Given the description of an element on the screen output the (x, y) to click on. 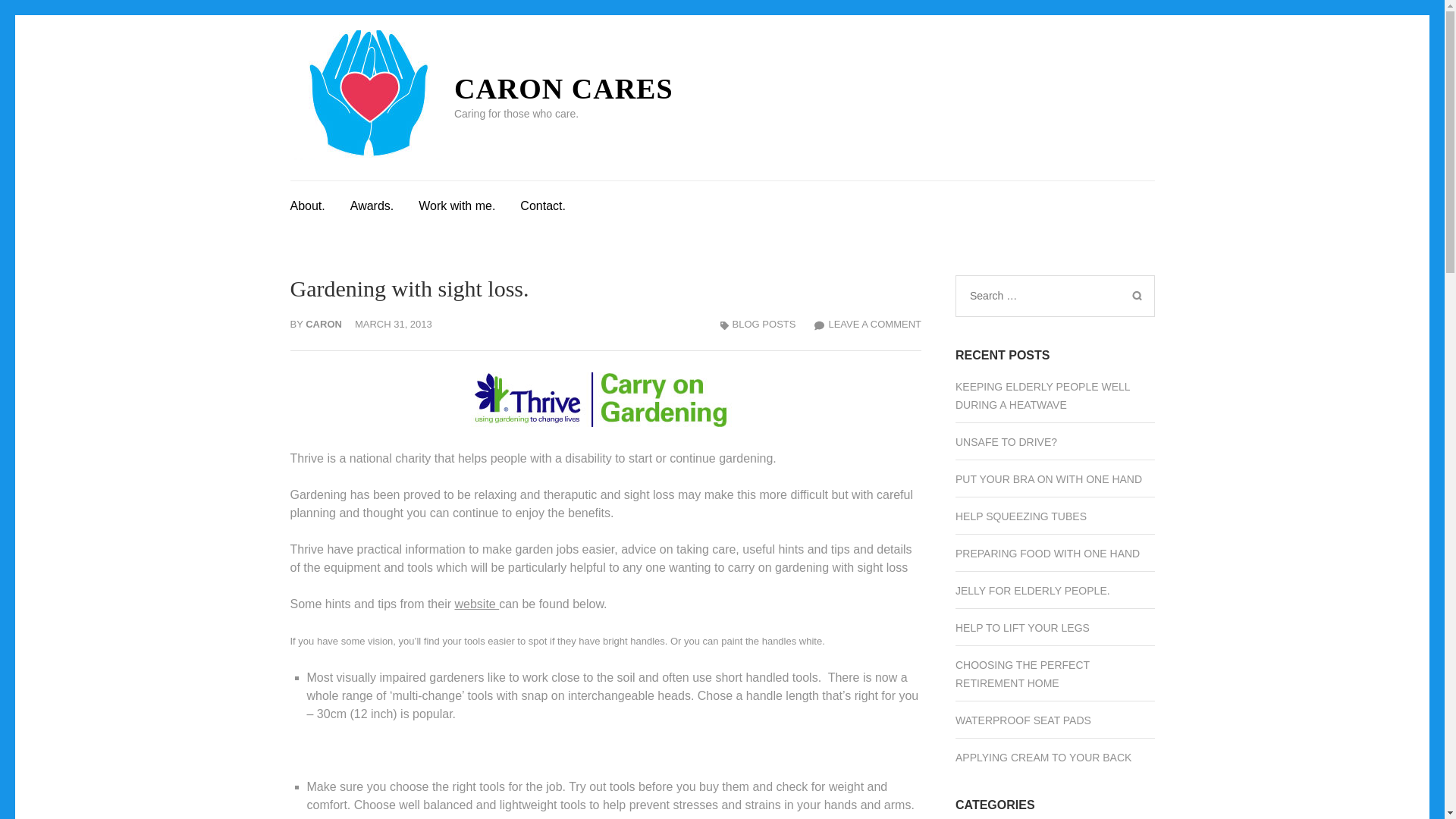
BLOG POSTS (764, 324)
CARON (323, 324)
website (476, 603)
CARON CARES (867, 324)
Contact. (563, 88)
Search (542, 203)
Awards. (1136, 296)
You can still garden with sight loss (372, 203)
MARCH 31, 2013 (604, 398)
